Given the description of an element on the screen output the (x, y) to click on. 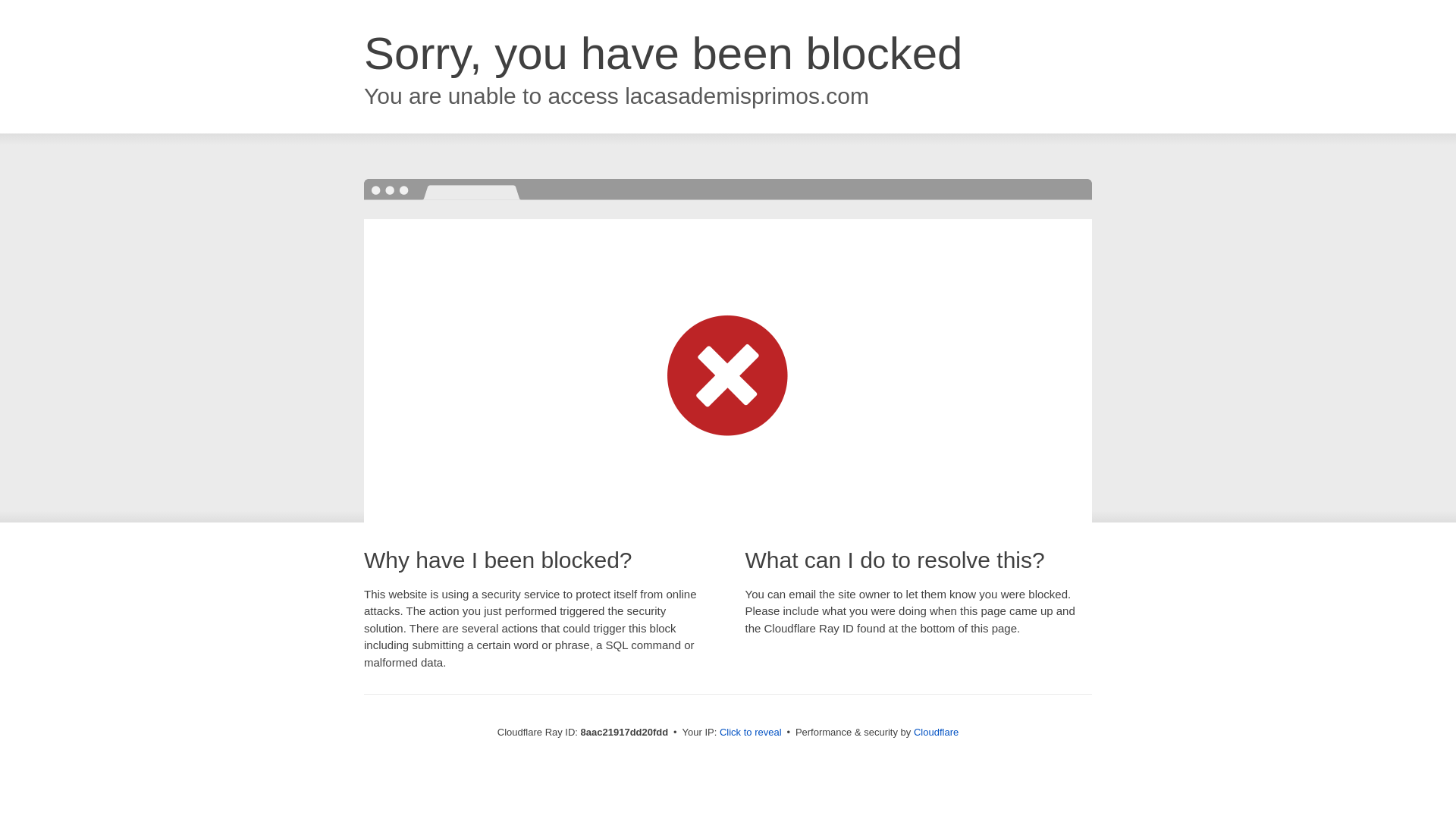
Click to reveal (750, 732)
Cloudflare (936, 731)
